Given the description of an element on the screen output the (x, y) to click on. 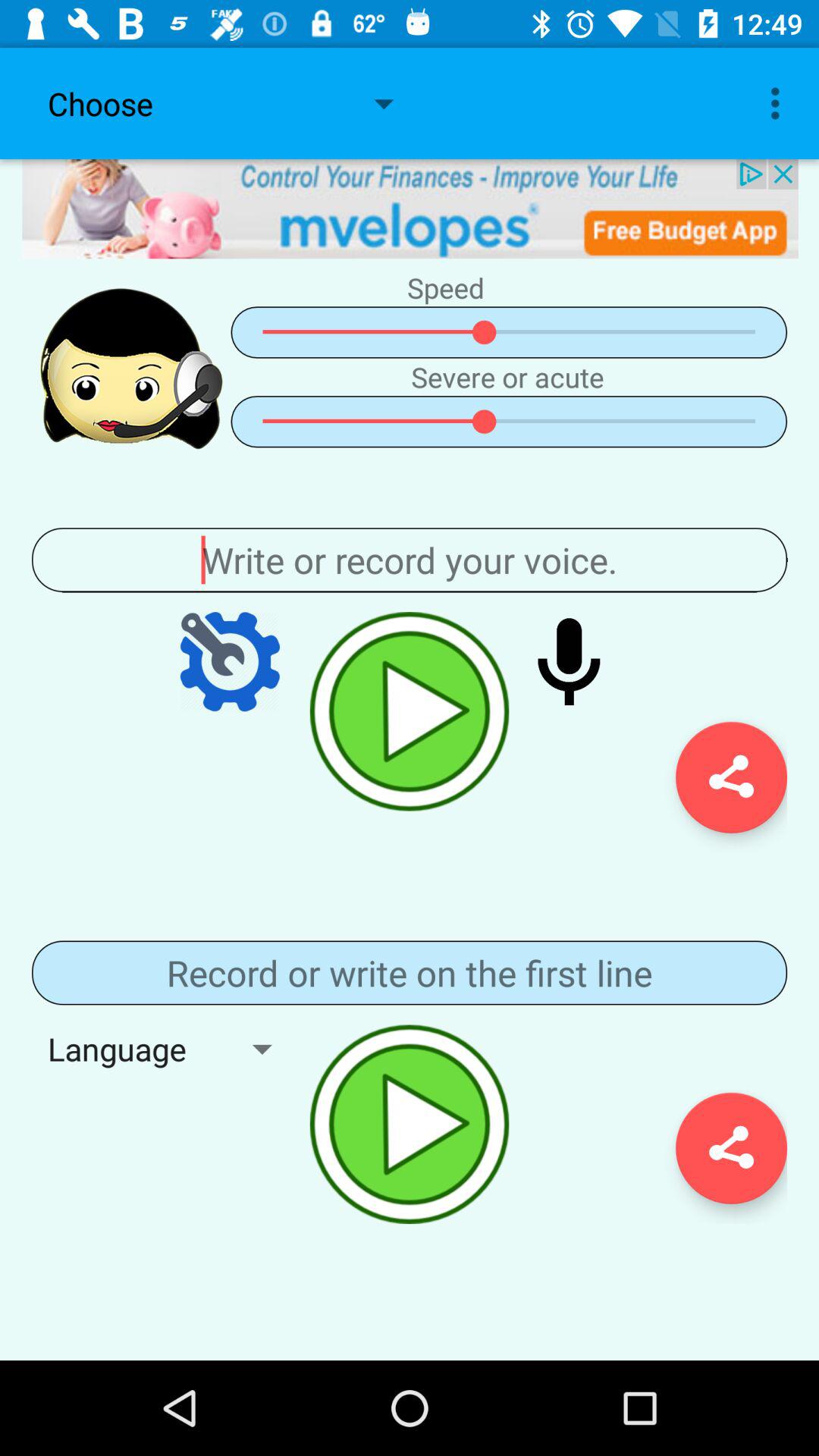
voice page (409, 559)
